Given the description of an element on the screen output the (x, y) to click on. 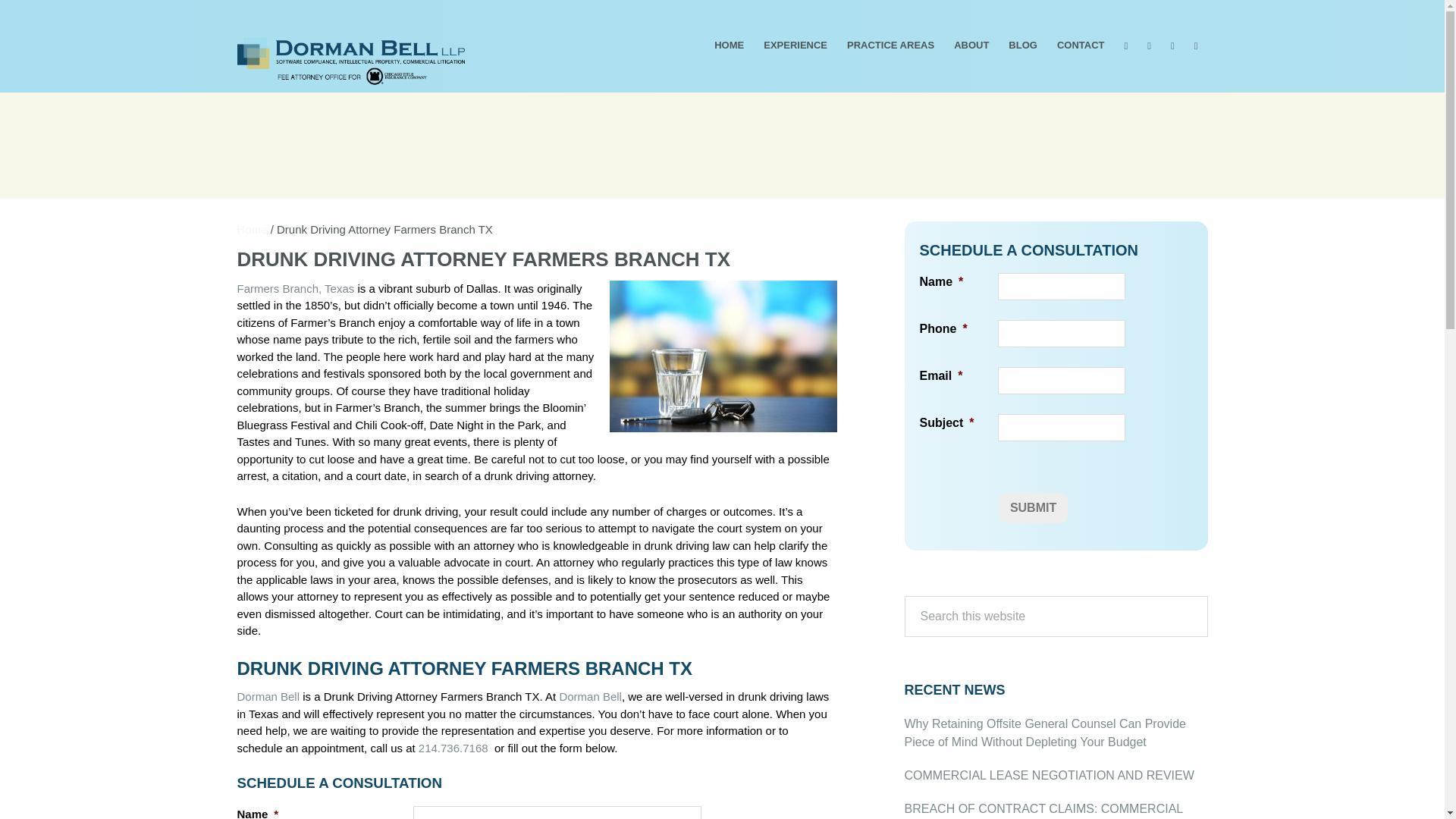
Search (1218, 601)
Farmers Branch, Texas (294, 287)
Submit (1032, 508)
Dorman Bell (267, 696)
EXPERIENCE (795, 45)
214.736.7168 (453, 748)
Drunk Driving Attorney Farmers Branch TX (723, 356)
Dorman Bell (590, 696)
DORMAN BELL (308, 108)
